Given the description of an element on the screen output the (x, y) to click on. 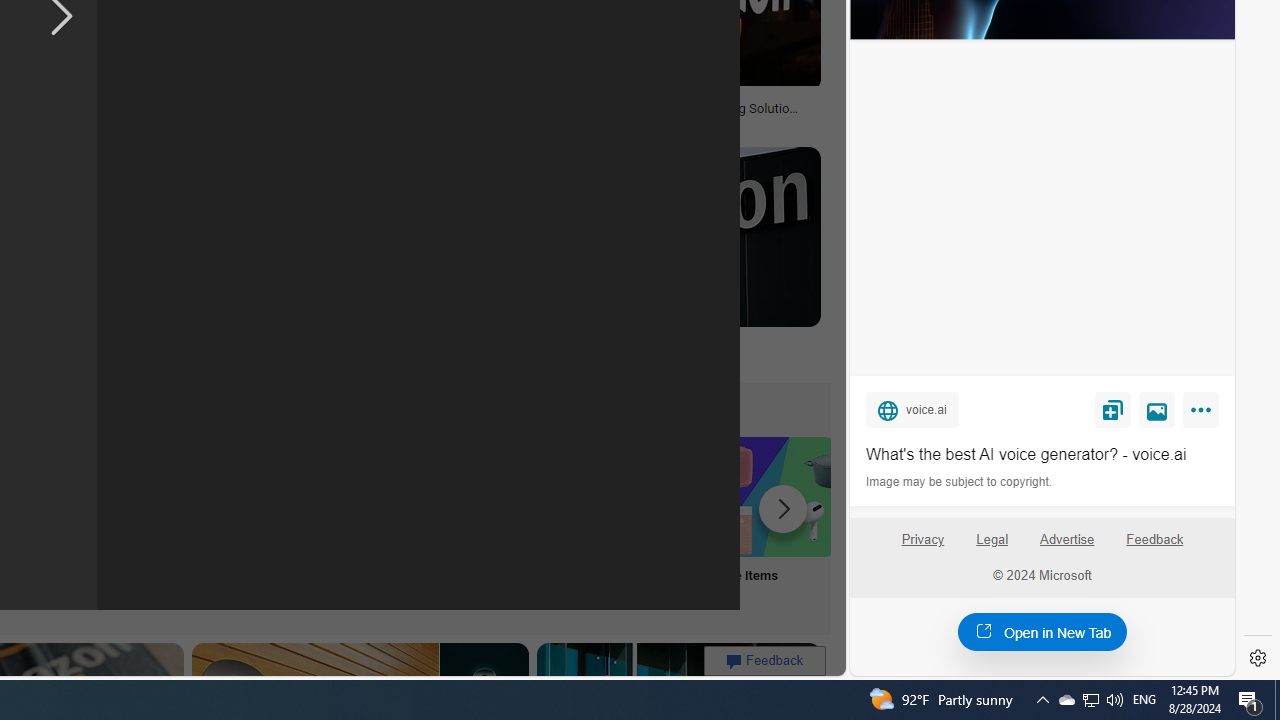
Image result for amazon (662, 236)
Amazon Prime Shopping Online Prime Shopping Online (380, 521)
Visa Card Login (643, 521)
Amazon Prime Label Prime Label (511, 521)
Sale Items (775, 521)
Amazon Sale Items Sale Items (775, 521)
Prime Shopping Online (380, 521)
protothema.gr (662, 359)
vecteezy.com (371, 123)
Save (1112, 409)
